Given the description of an element on the screen output the (x, y) to click on. 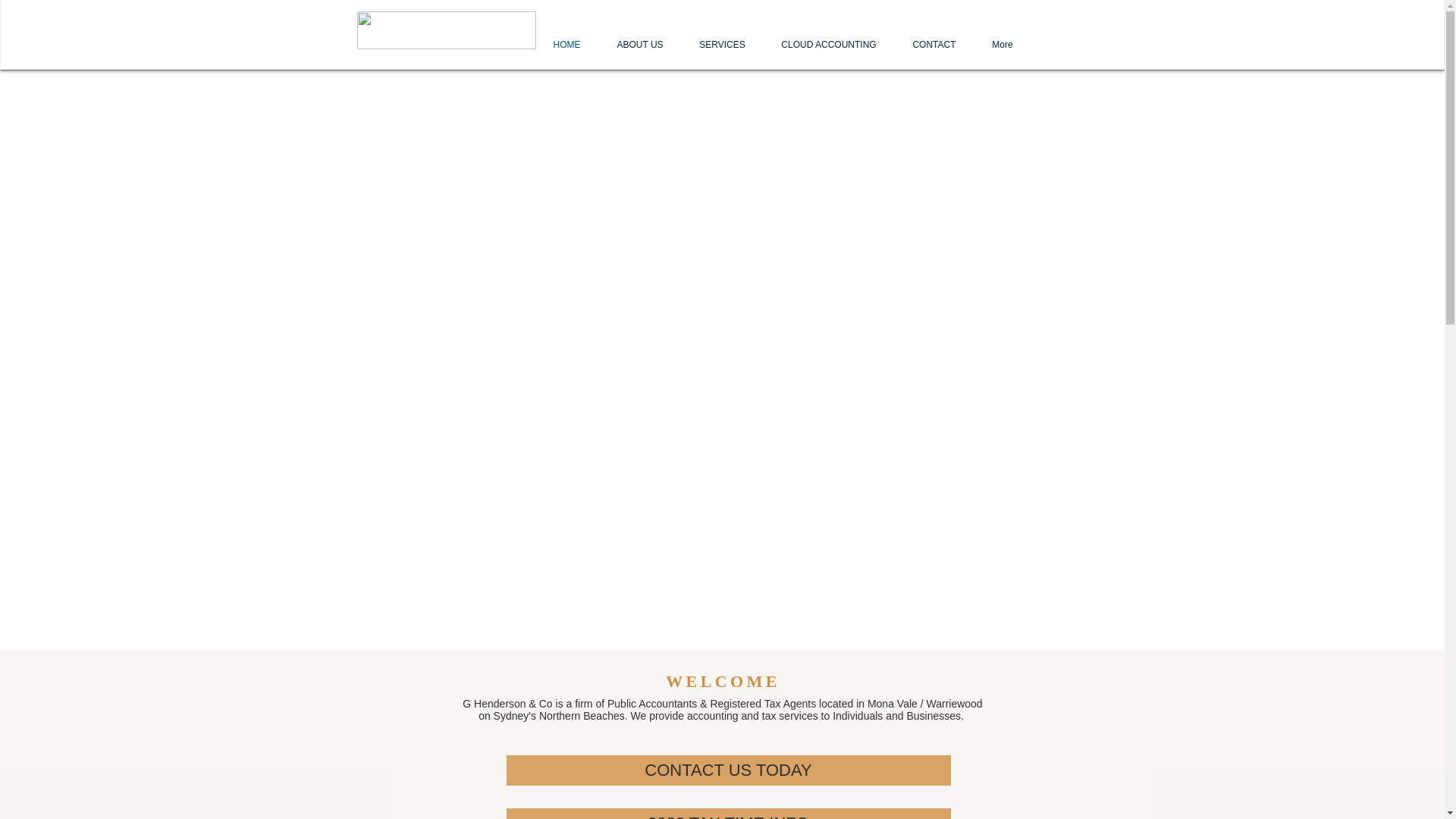
CONTACT Element type: text (934, 45)
SERVICES Element type: text (721, 45)
ABOUT US Element type: text (640, 45)
CONTACT US TODAY Element type: text (728, 770)
HOME Element type: text (567, 45)
CLOUD ACCOUNTING Element type: text (828, 45)
